Given the description of an element on the screen output the (x, y) to click on. 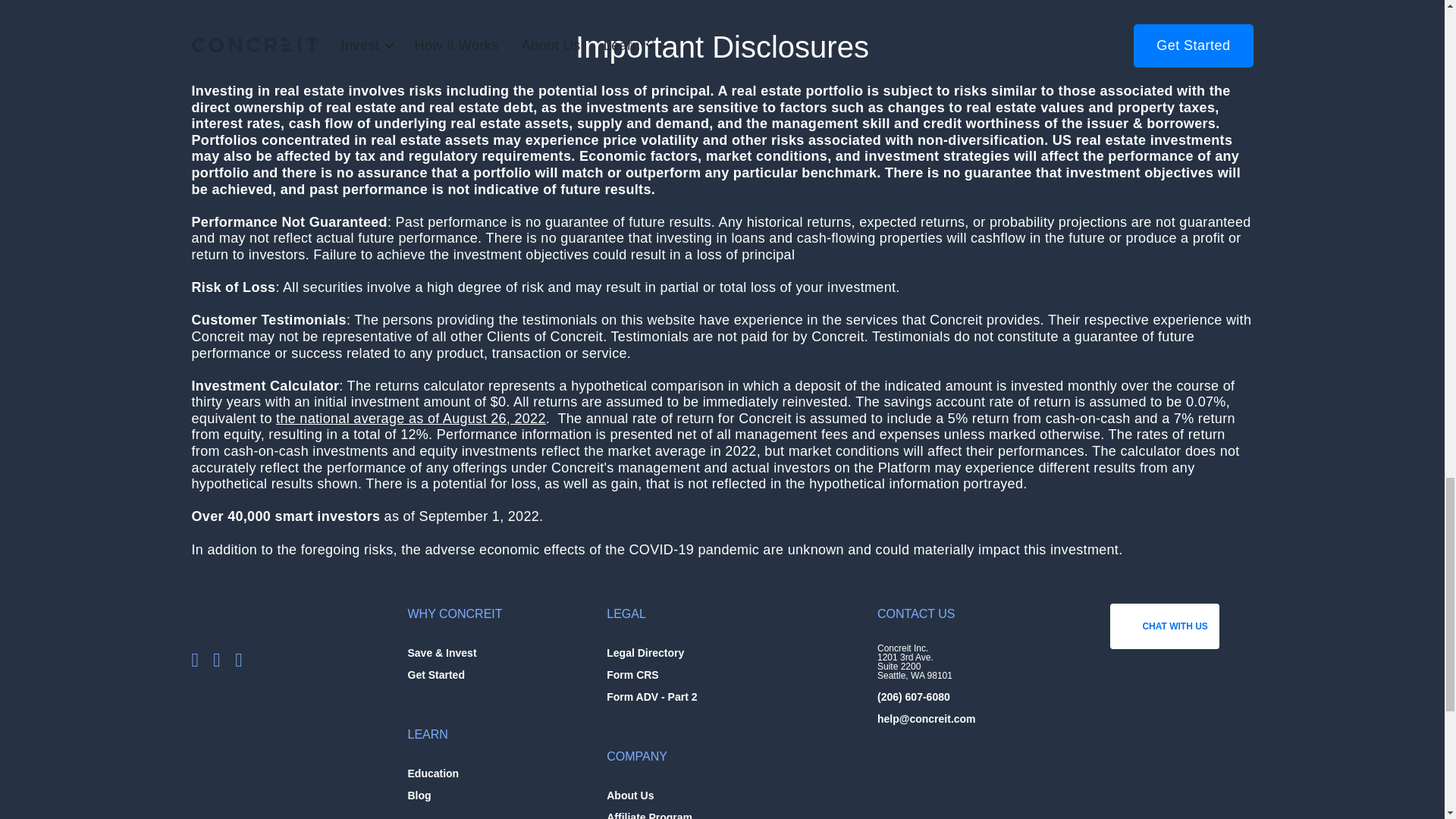
the national average as of August 26, 2022 (411, 418)
Legal Directory (645, 650)
Education (433, 771)
Affiliate Program (650, 813)
Get Started (435, 672)
Form CRS (632, 672)
CHAT WITH US (1163, 626)
Form ADV - Part 2 (652, 694)
About Us (630, 793)
Blog (418, 793)
